Given the description of an element on the screen output the (x, y) to click on. 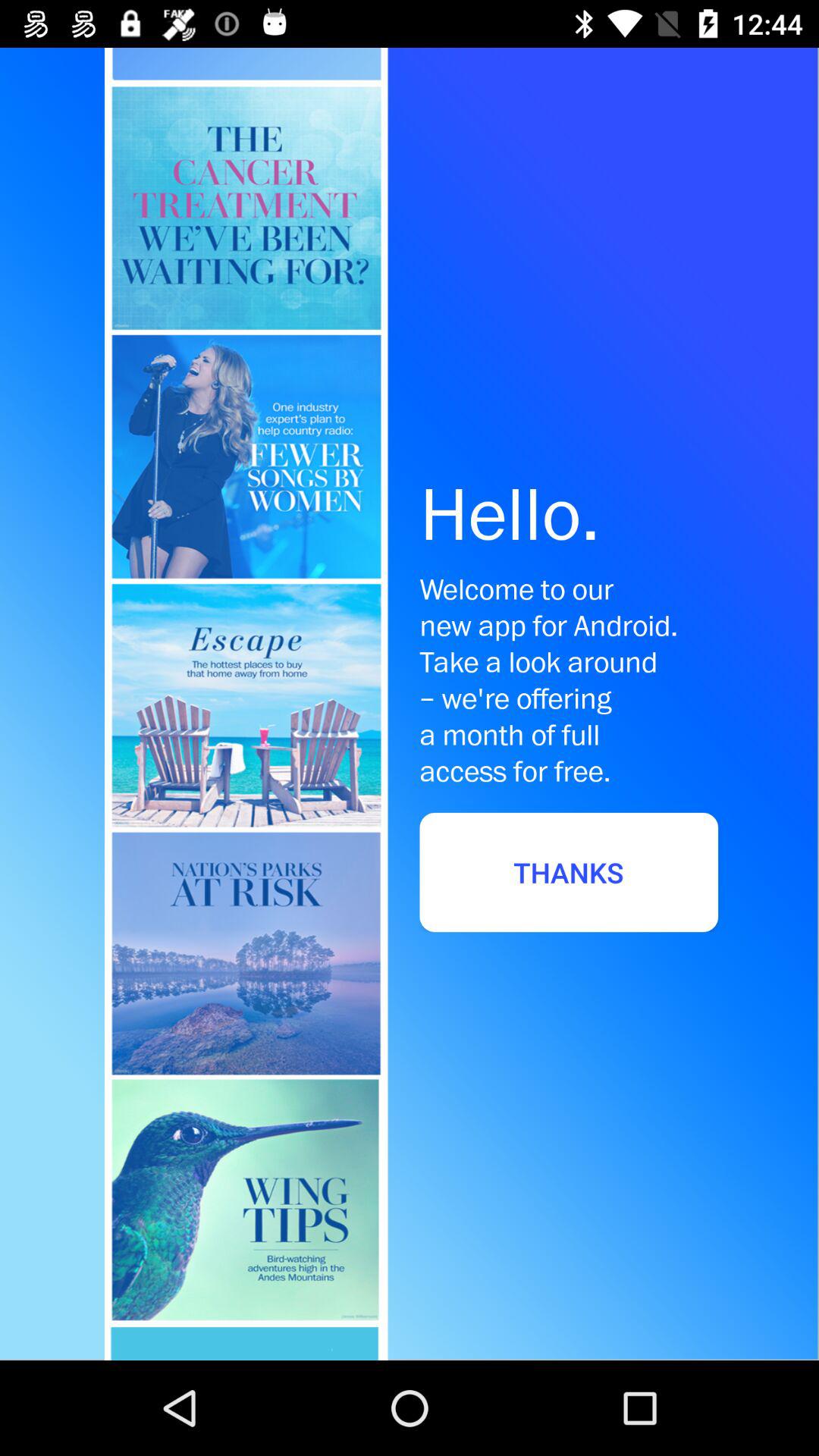
tap icon below the welcome to our app (568, 872)
